Given the description of an element on the screen output the (x, y) to click on. 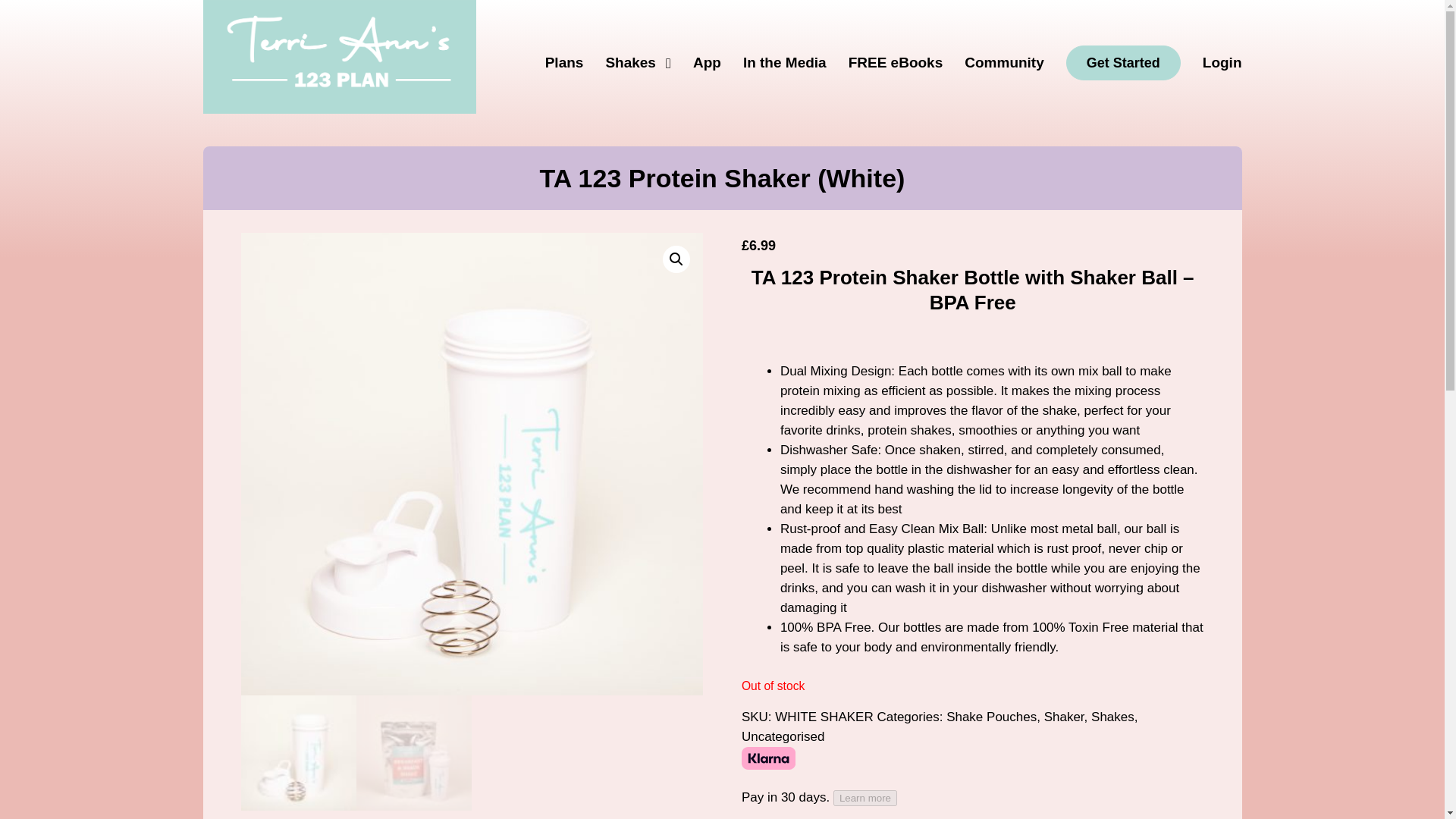
FREE eBooks (895, 62)
App (706, 62)
Get Started (1122, 62)
In the Media (784, 62)
Shaker (1063, 716)
Shakes (1112, 716)
Community (1003, 62)
Shakes (638, 62)
Shake Pouches (991, 716)
Uncategorised (783, 736)
Plans (563, 62)
Login (1221, 62)
